Given the description of an element on the screen output the (x, y) to click on. 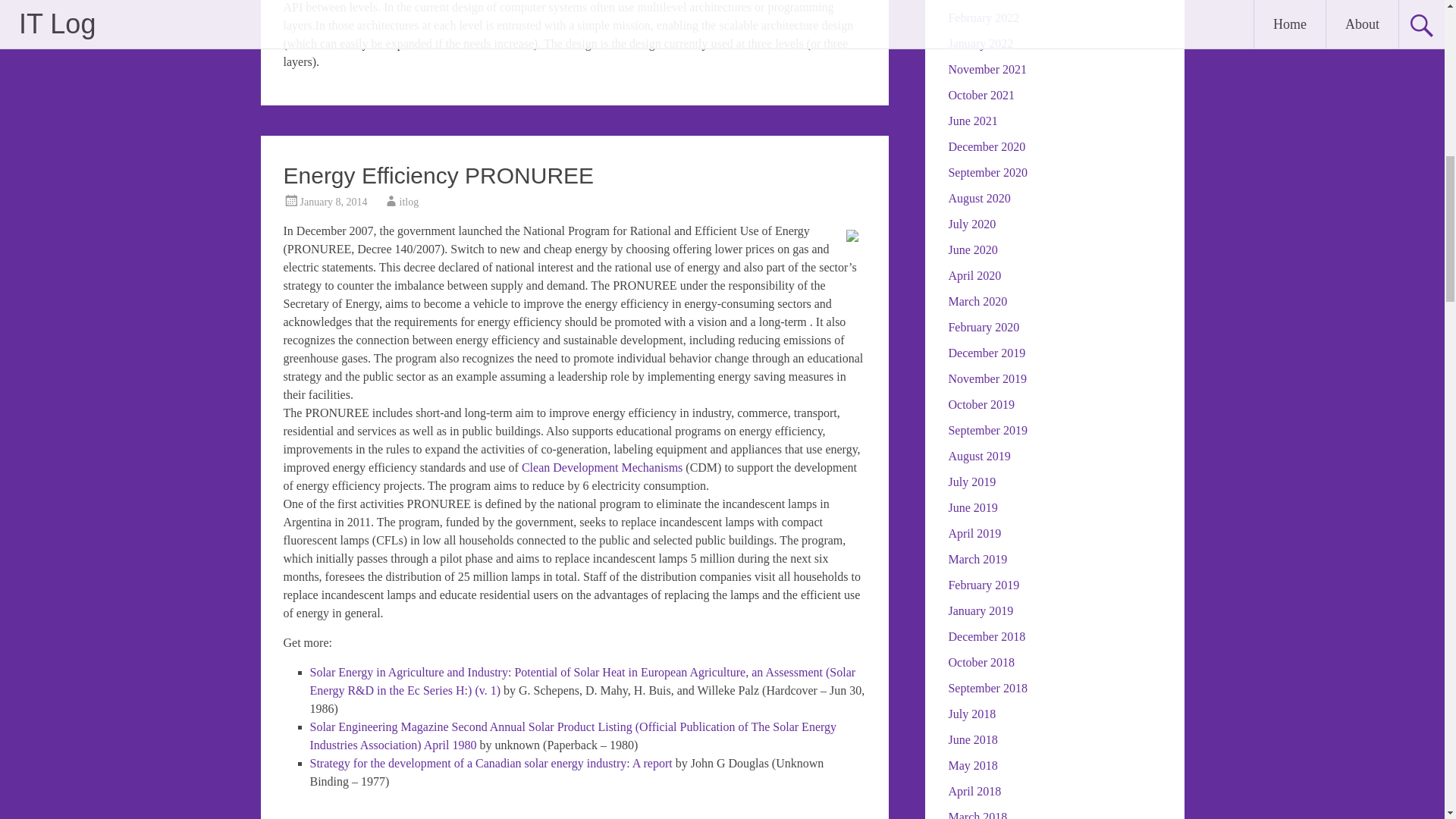
January 2022 (980, 42)
Clean Development Mechanisms (601, 467)
Energy Efficiency PRONUREE (438, 175)
November 2021 (986, 69)
itlog (408, 202)
January 8, 2014 (333, 202)
February 2022 (983, 17)
